Given the description of an element on the screen output the (x, y) to click on. 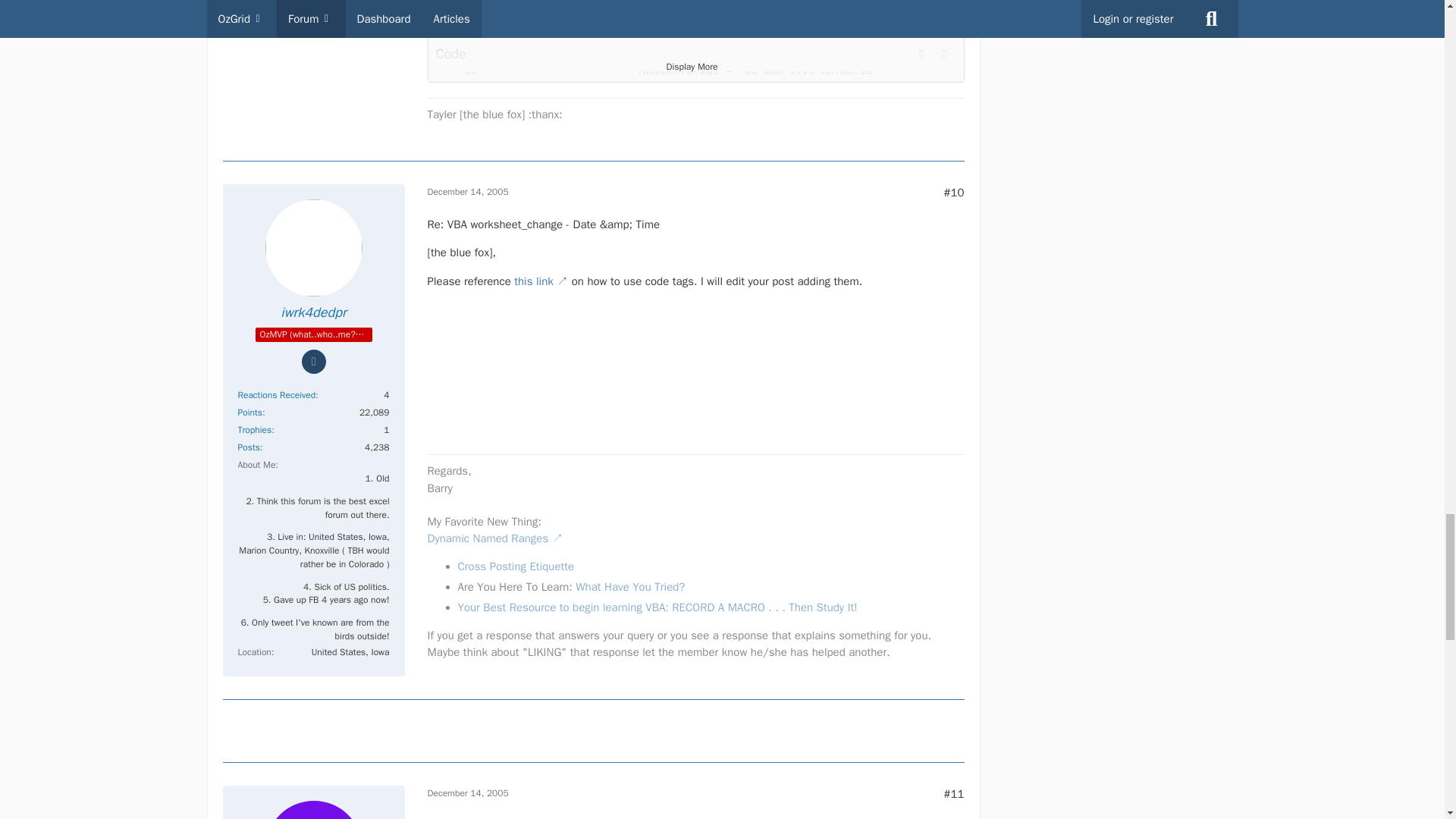
7 (458, 24)
8 (458, 40)
10 (458, 71)
6 (458, 8)
9 (458, 56)
5 (458, 0)
